Given the description of an element on the screen output the (x, y) to click on. 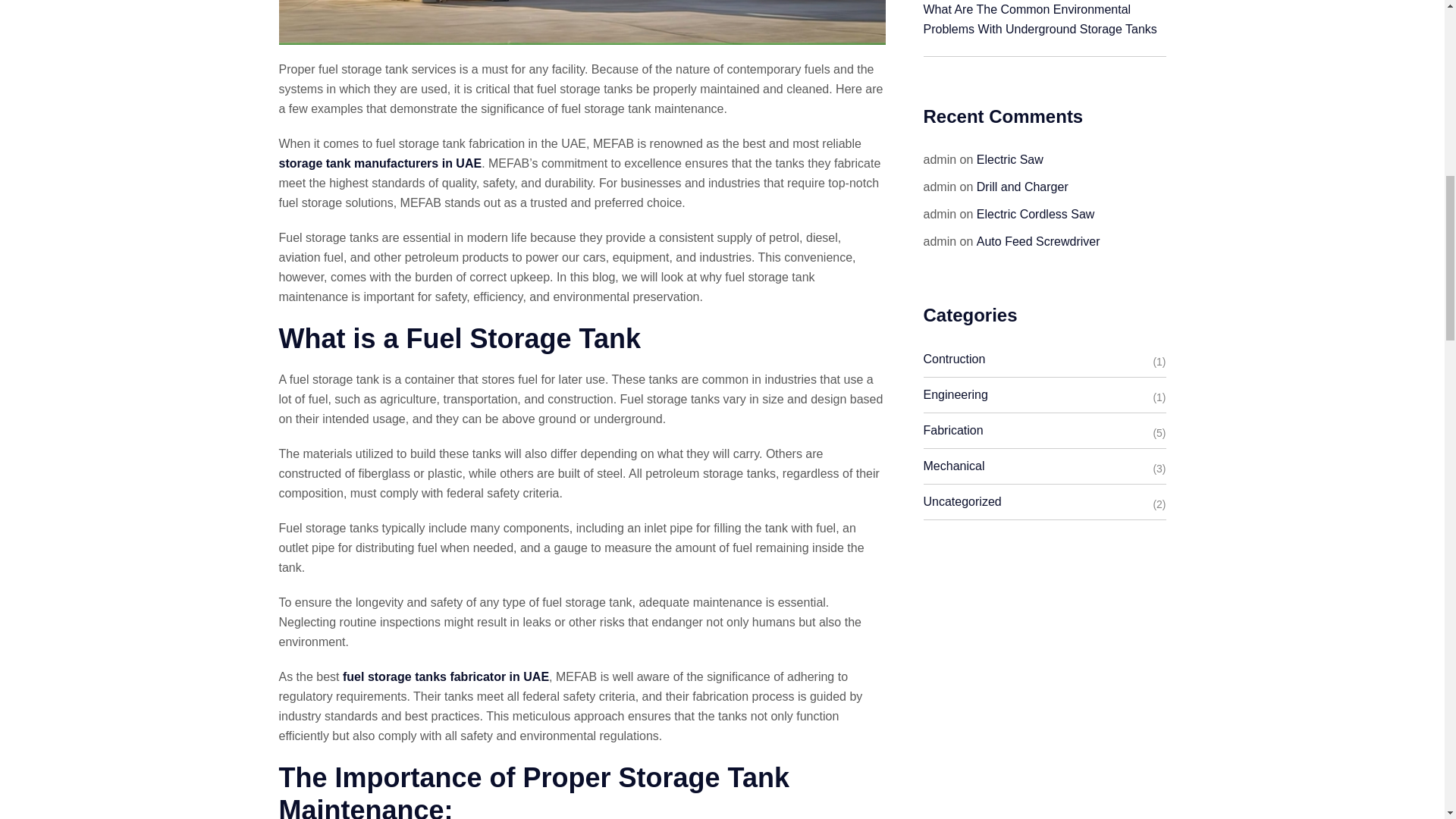
Drill and Charger (1022, 186)
Electric Saw (1009, 159)
storage tank manufacturers in UAE (380, 163)
fuel storage tanks fabricator in UAE (445, 676)
